Given the description of an element on the screen output the (x, y) to click on. 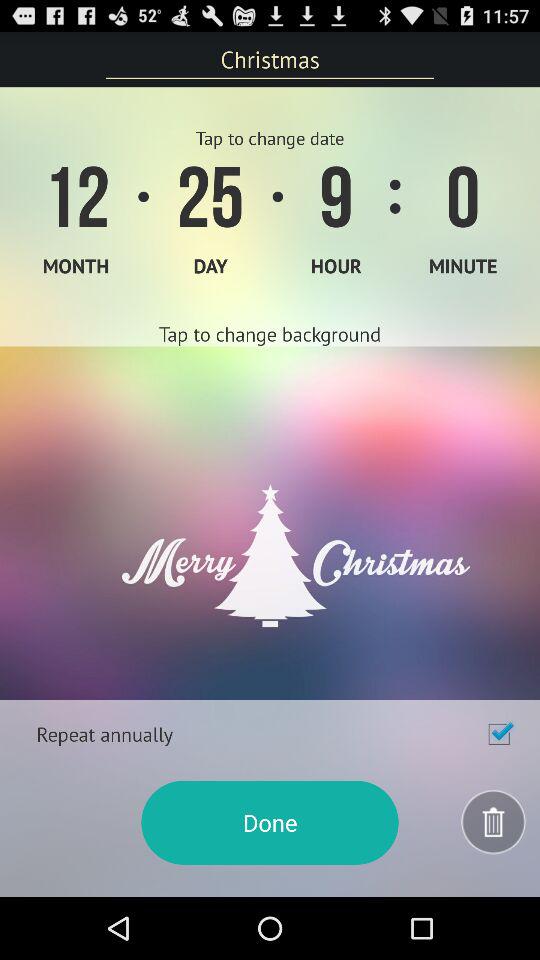
click icon next to done (493, 822)
